Given the description of an element on the screen output the (x, y) to click on. 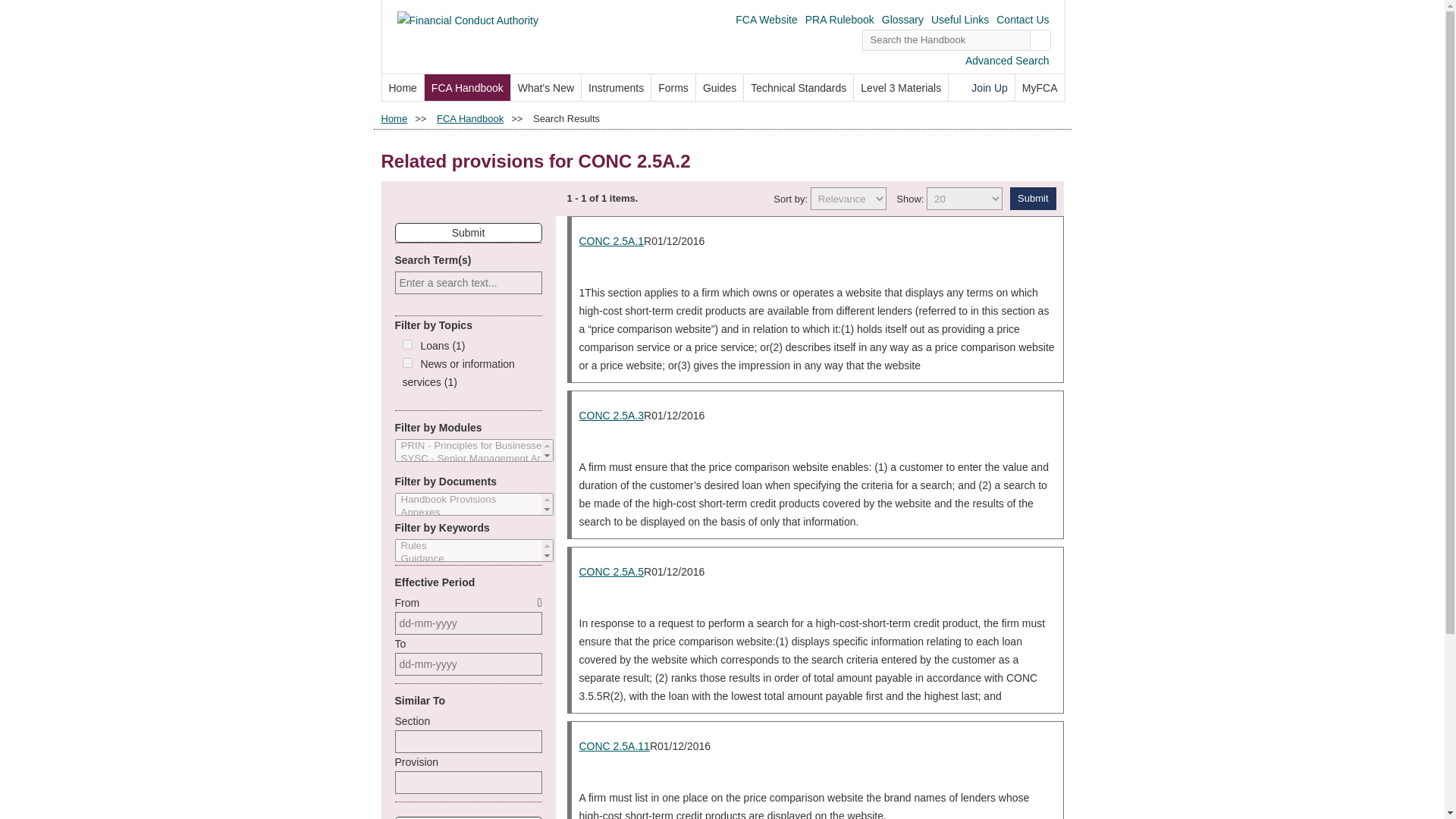
FCA Website (765, 19)
View all rule-making and amending instruments (615, 87)
Home (393, 118)
Home (402, 87)
RP (817, 589)
Related Provisions (817, 434)
Access your alerts and favourite pages (1039, 87)
Related Provisions (817, 259)
RP (817, 259)
Submit (1032, 198)
